Given the description of an element on the screen output the (x, y) to click on. 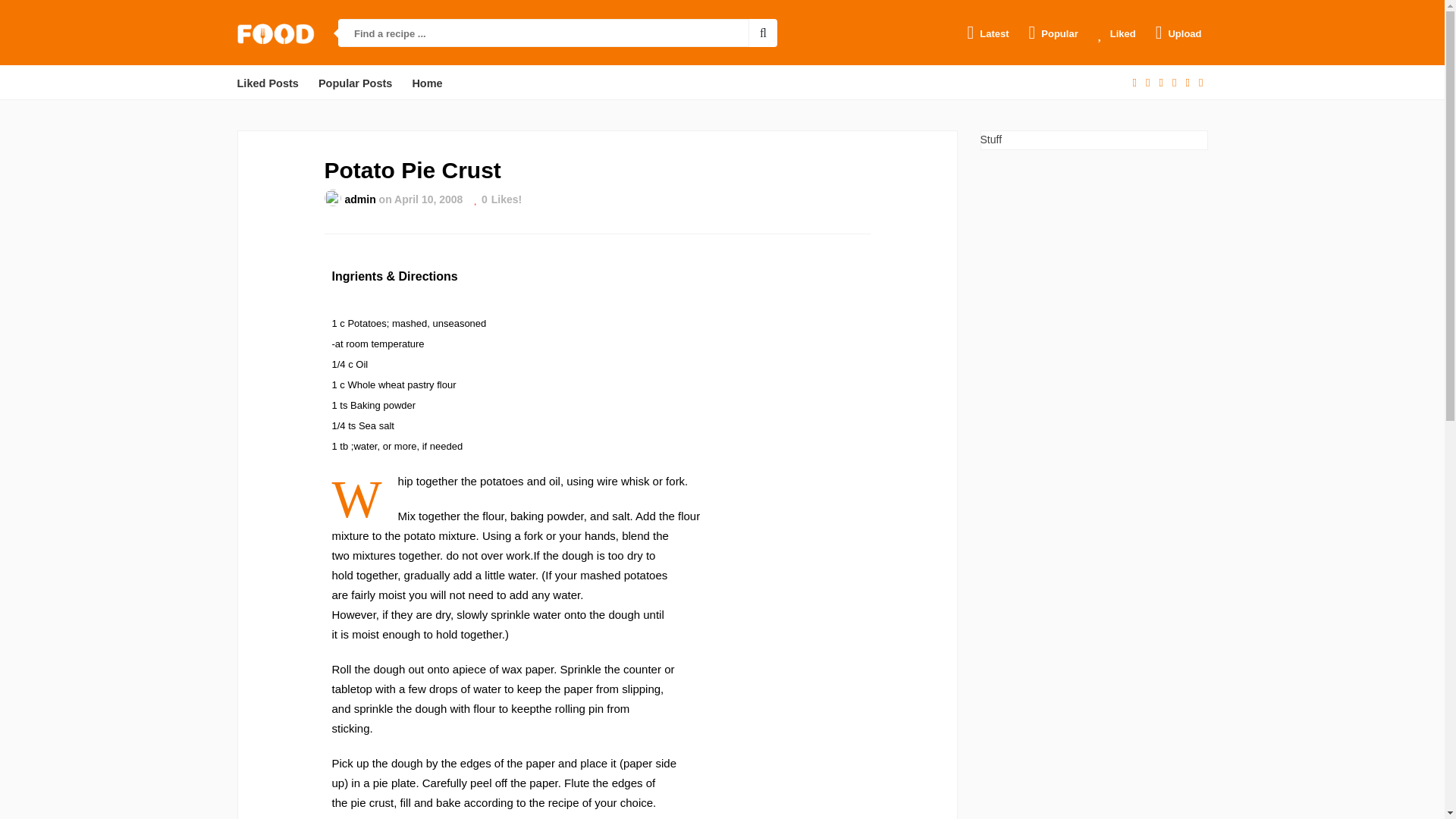
Home (427, 82)
Latest (987, 33)
Popular Posts (355, 82)
Liked (1116, 33)
Liked Posts (267, 82)
Upload (1179, 33)
Popular (1053, 33)
admin (359, 199)
Posts by admin (359, 199)
